Given the description of an element on the screen output the (x, y) to click on. 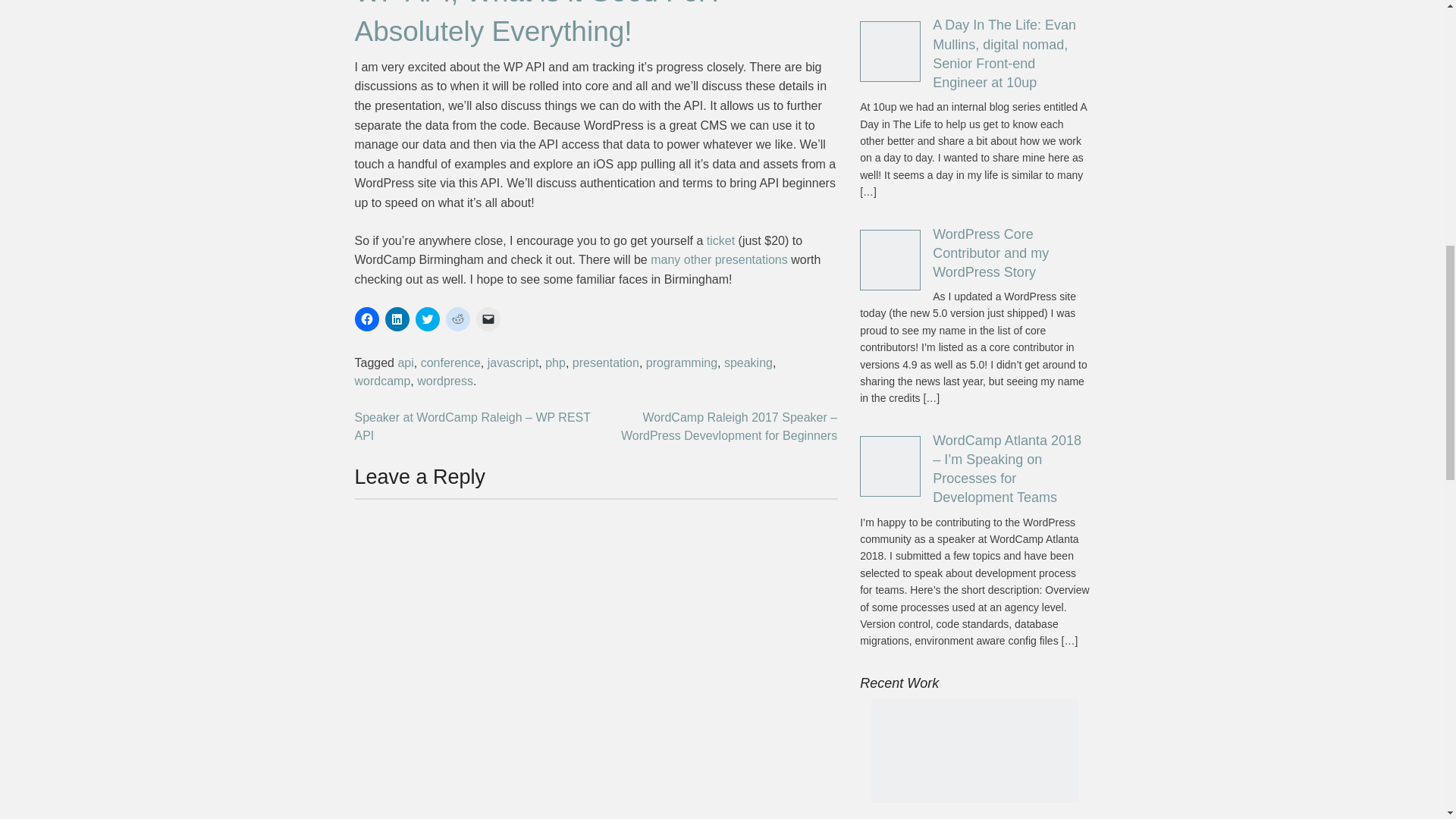
presentation (605, 362)
WordPress Core Contributor and my WordPress Story (990, 253)
WP API, What is it Good For? Absolutely Everything! (539, 23)
javascript (512, 362)
Click to share on LinkedIn (397, 319)
api (405, 362)
programming (681, 362)
php (555, 362)
Click to share on Twitter (426, 319)
Click to email a link to a friend (488, 319)
wordcamp (382, 380)
speaking (748, 362)
many other presentations (718, 259)
ticket (720, 240)
